Given the description of an element on the screen output the (x, y) to click on. 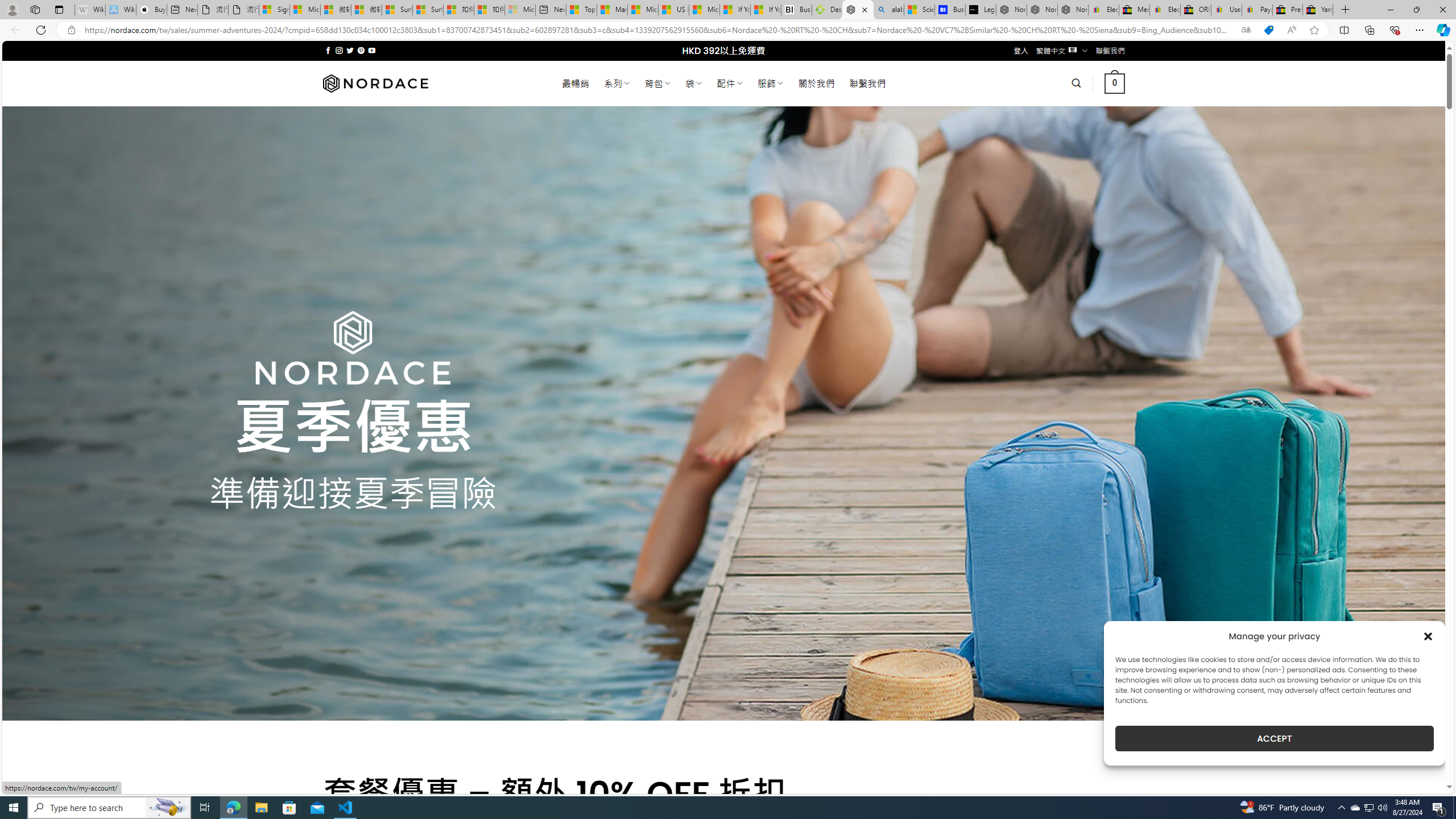
Buy iPad - Apple (151, 9)
Microsoft account | Account Checkup - Sleeping (519, 9)
Follow on YouTube (371, 50)
ACCEPT (1274, 738)
